Given the description of an element on the screen output the (x, y) to click on. 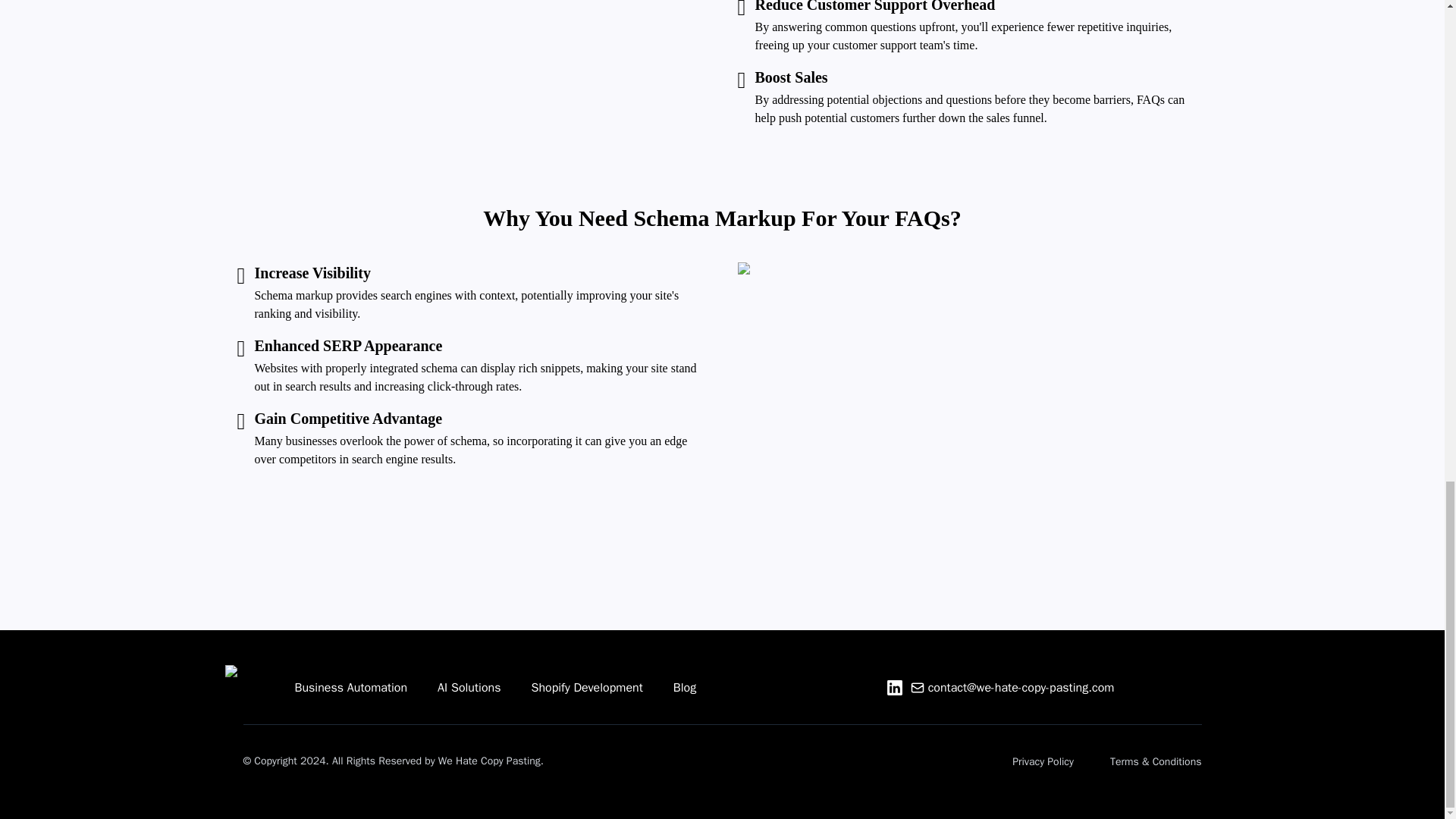
Privacy Policy (1042, 761)
Blog (683, 687)
Business Automation (350, 687)
AI Solutions (469, 687)
Shopify Development (586, 687)
